Given the description of an element on the screen output the (x, y) to click on. 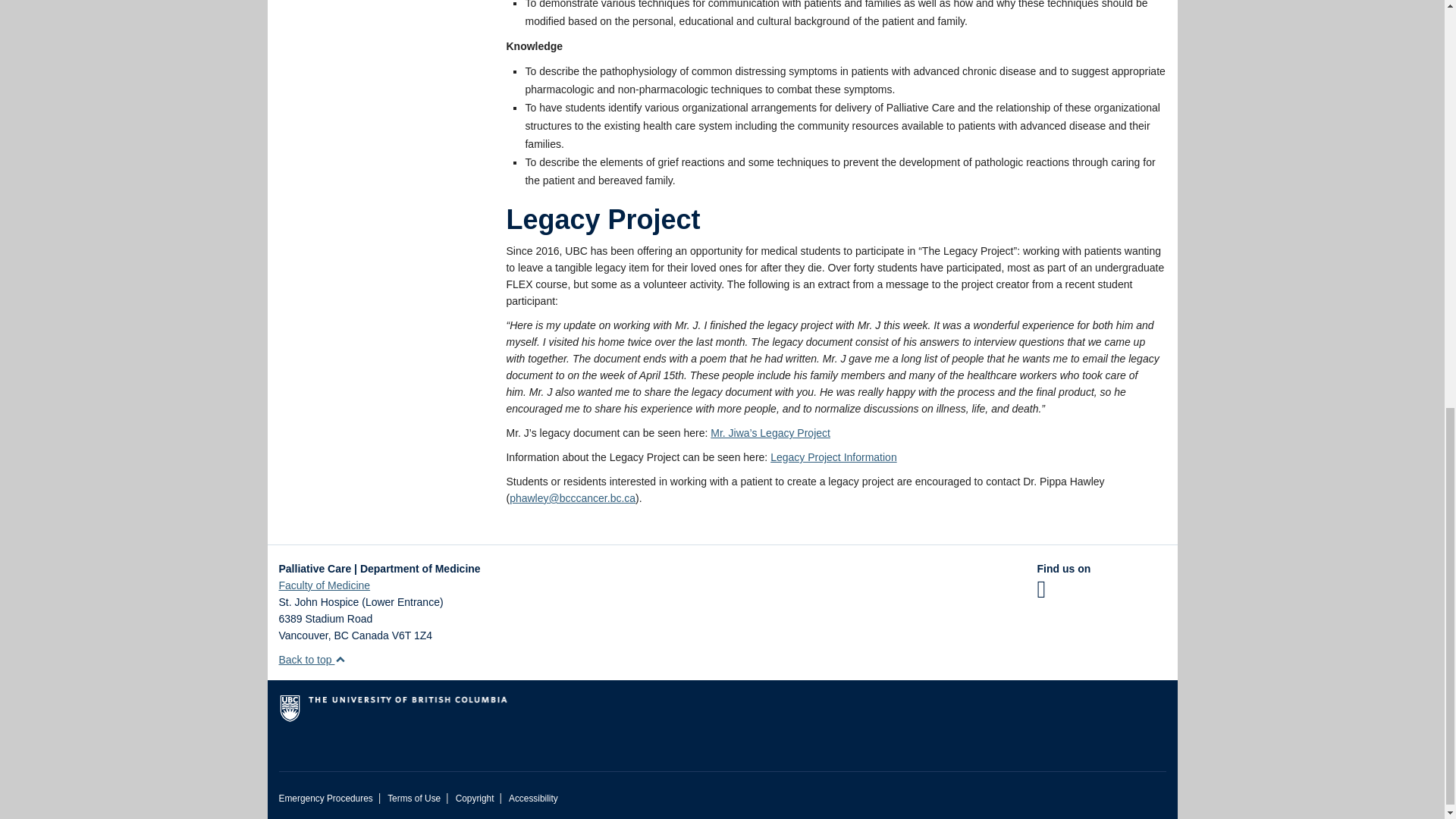
UBC Copyright (475, 798)
Accessibility (532, 798)
Emergency Procedures (325, 798)
Terms of Use (414, 798)
Back to top (312, 659)
